Given the description of an element on the screen output the (x, y) to click on. 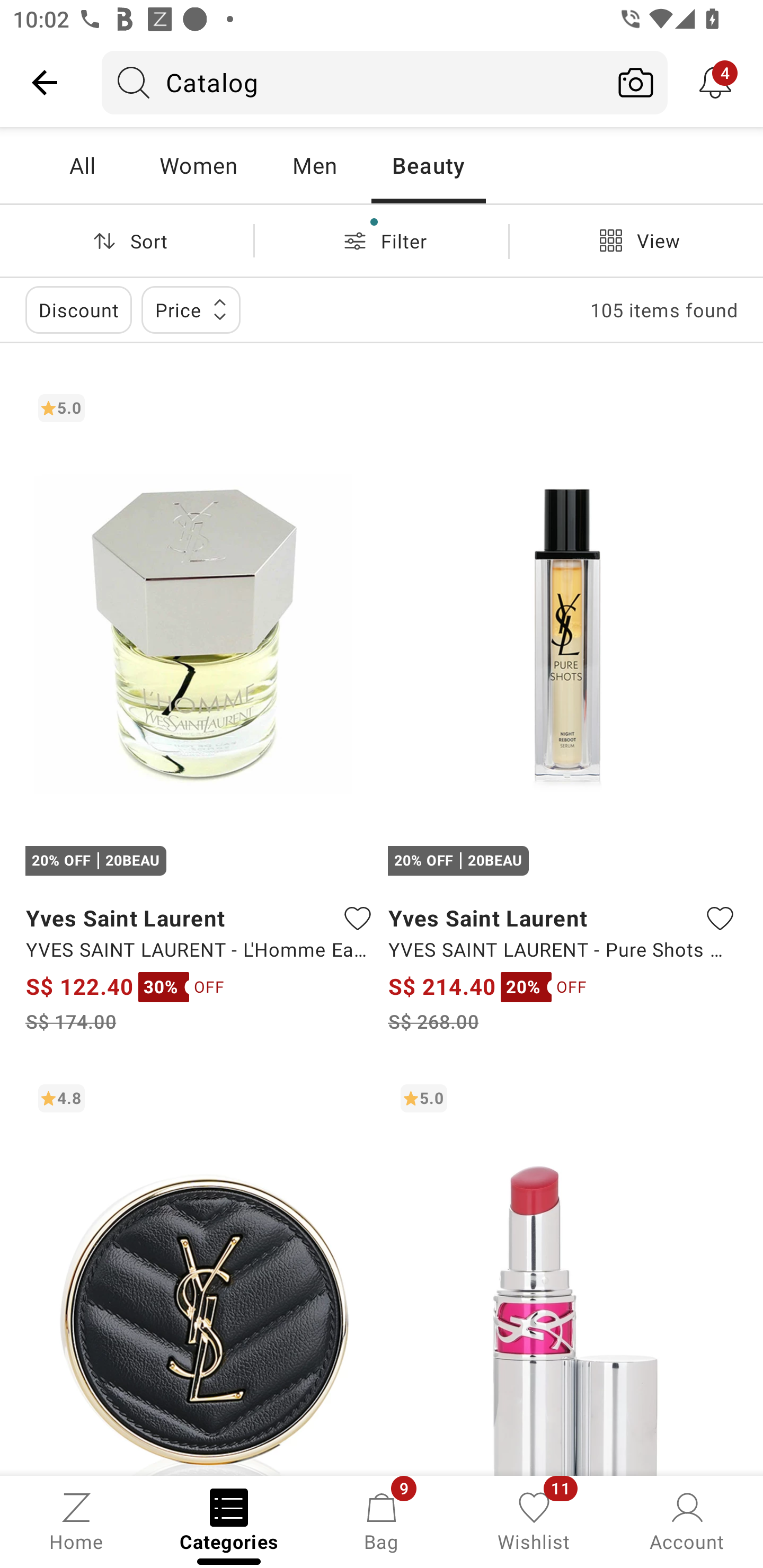
Navigate up (44, 82)
Catalog (352, 82)
All (82, 165)
Women (198, 165)
Men (314, 165)
Sort (126, 240)
Filter (381, 240)
View (636, 240)
Discount (78, 309)
Price (190, 309)
4.8 (200, 1272)
5.0 (562, 1272)
Home (76, 1519)
Bag, 9 new notifications Bag (381, 1519)
Wishlist, 11 new notifications Wishlist (533, 1519)
Account (686, 1519)
